Given the description of an element on the screen output the (x, y) to click on. 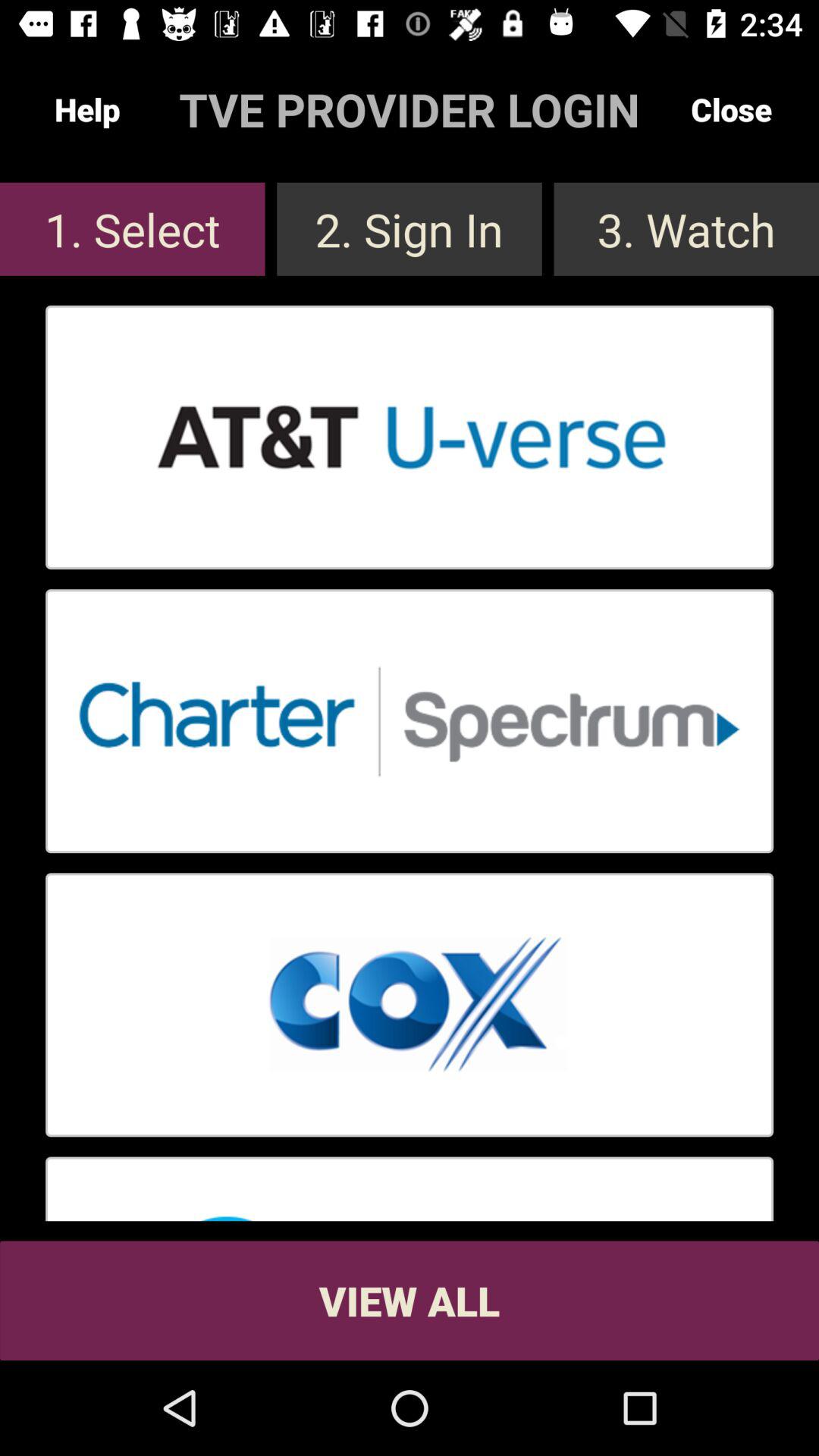
launch close icon (731, 108)
